Given the description of an element on the screen output the (x, y) to click on. 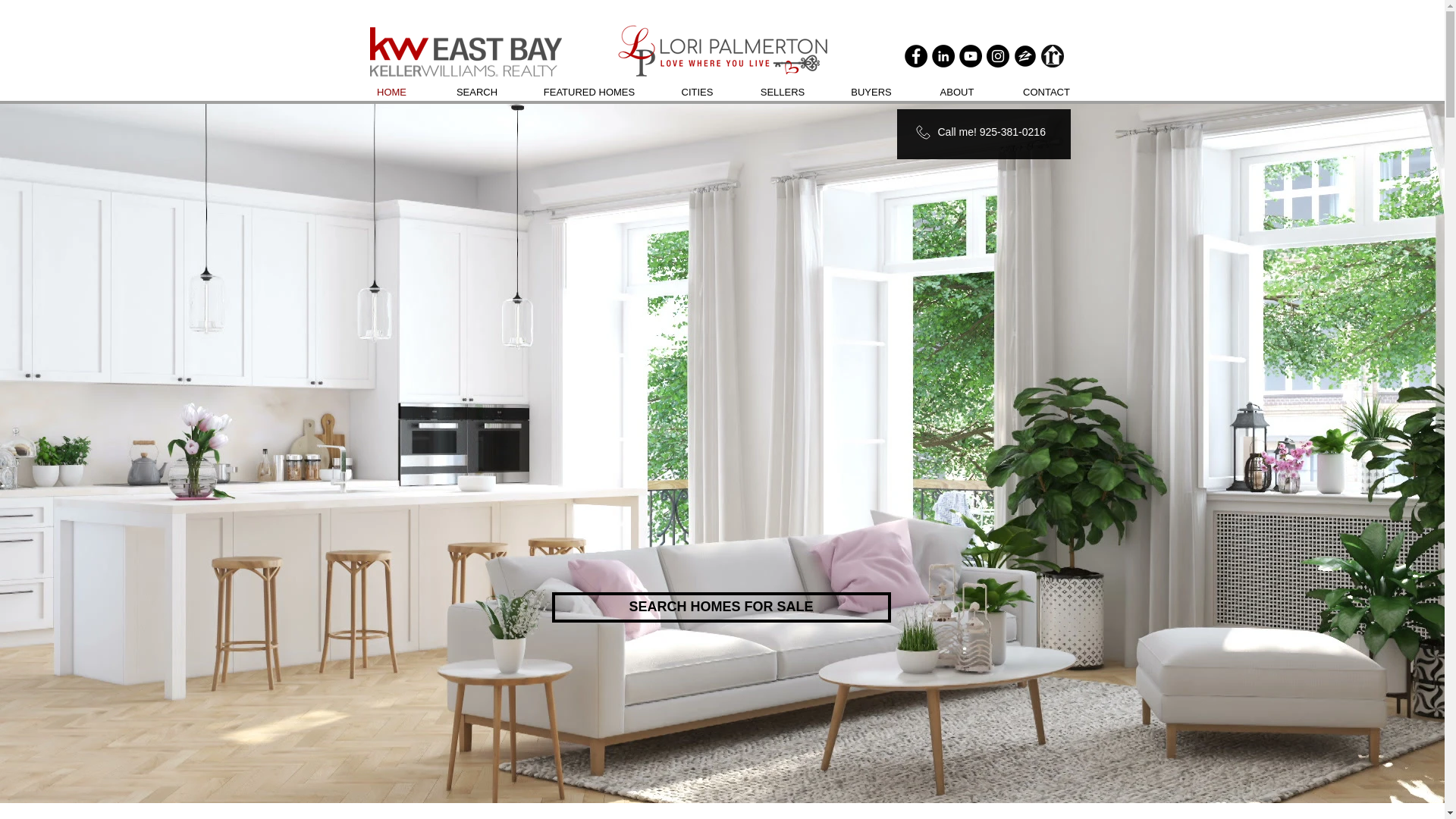
CITIES (696, 92)
SEARCH (476, 92)
CONTACT (1046, 92)
HOME (391, 92)
SEARCH HOMES FOR SALE (721, 607)
SELLERS (781, 92)
BUYERS (871, 92)
FEATURED HOMES (589, 92)
